Given the description of an element on the screen output the (x, y) to click on. 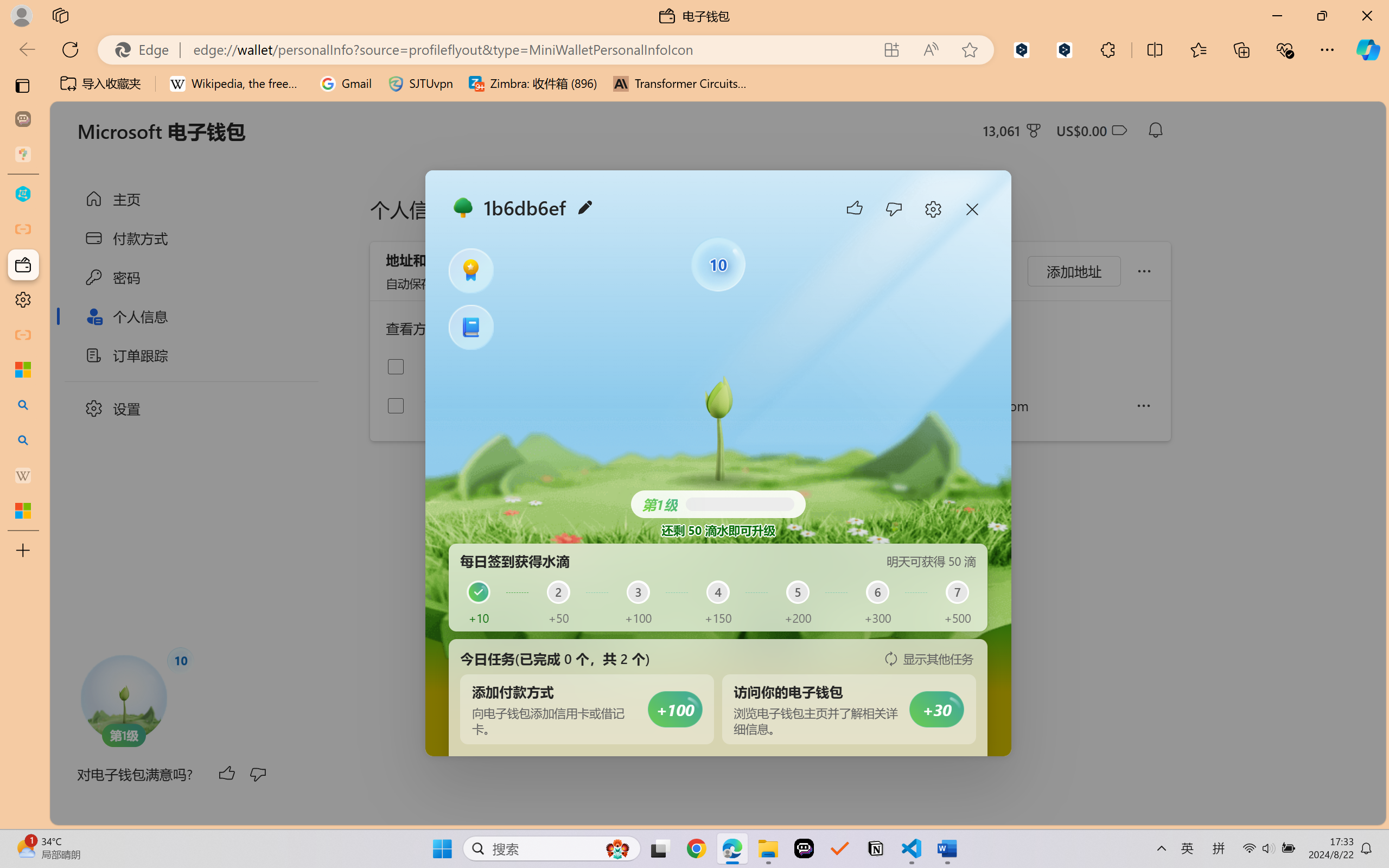
Transformer Circuits Thread (680, 83)
Microsoft security help and learning (22, 369)
